Given the description of an element on the screen output the (x, y) to click on. 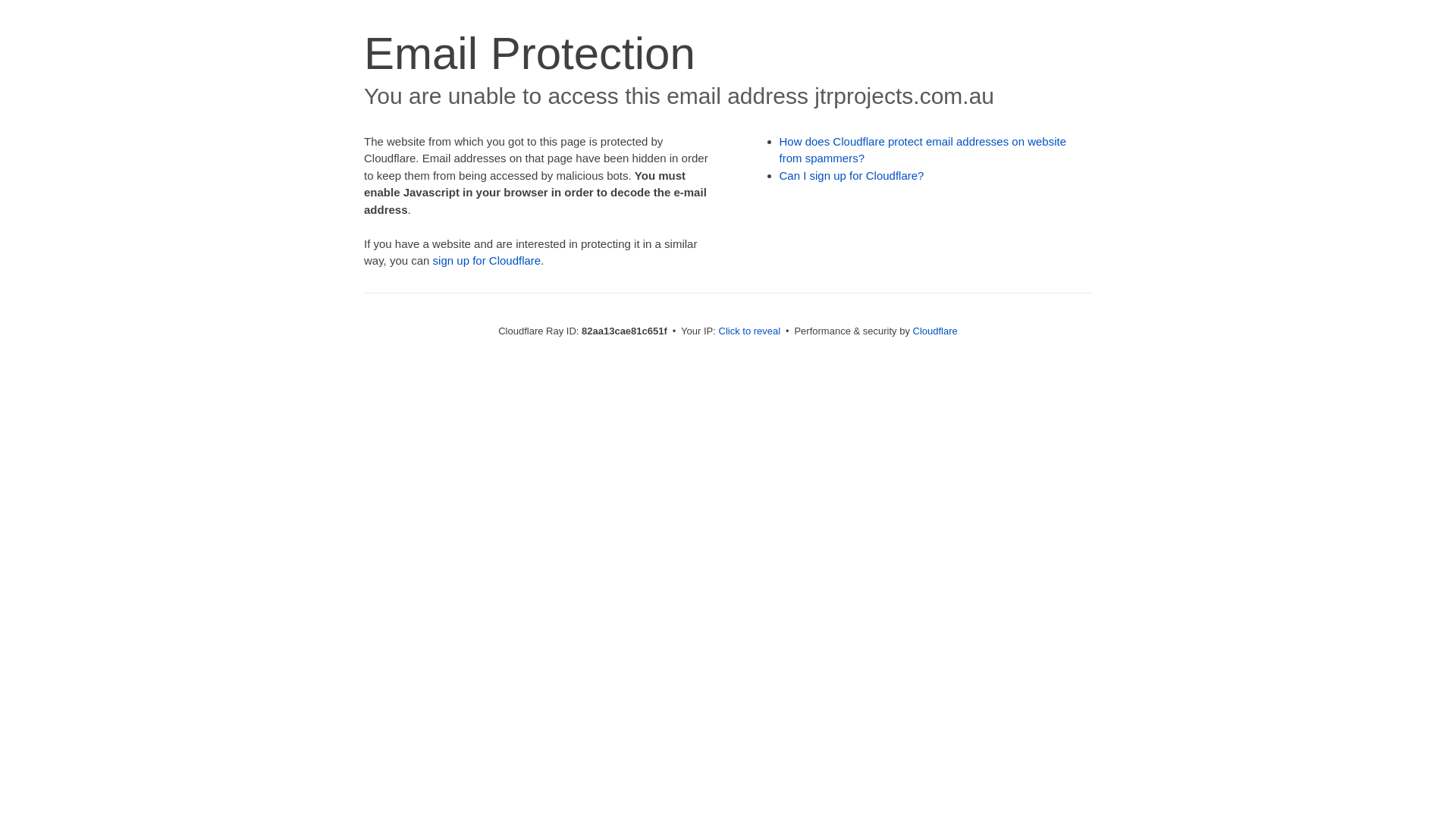
Click to reveal Element type: text (749, 330)
sign up for Cloudflare Element type: text (487, 260)
Cloudflare Element type: text (935, 330)
Can I sign up for Cloudflare? Element type: text (851, 175)
